Given the description of an element on the screen output the (x, y) to click on. 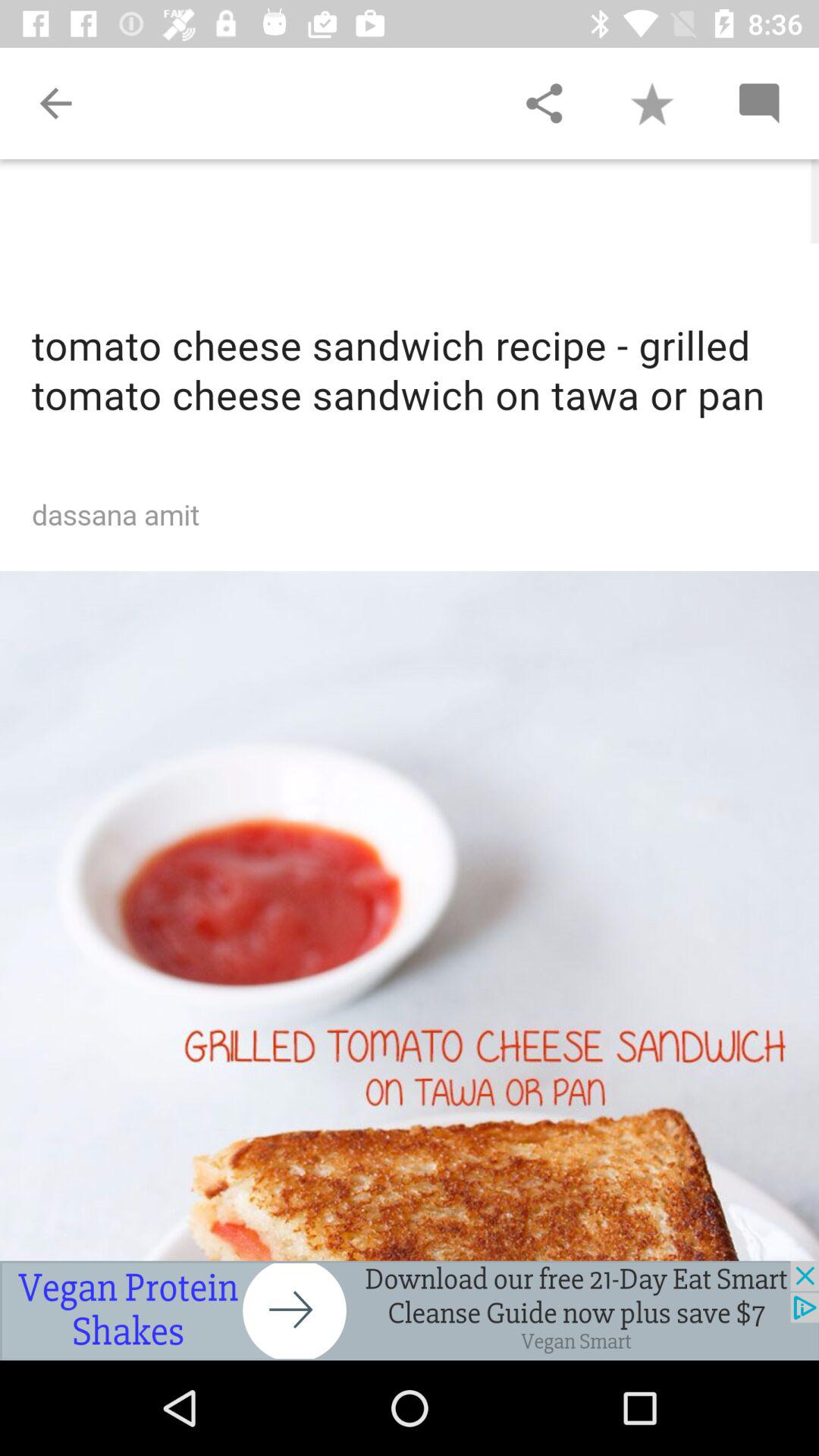
share (543, 103)
